Given the description of an element on the screen output the (x, y) to click on. 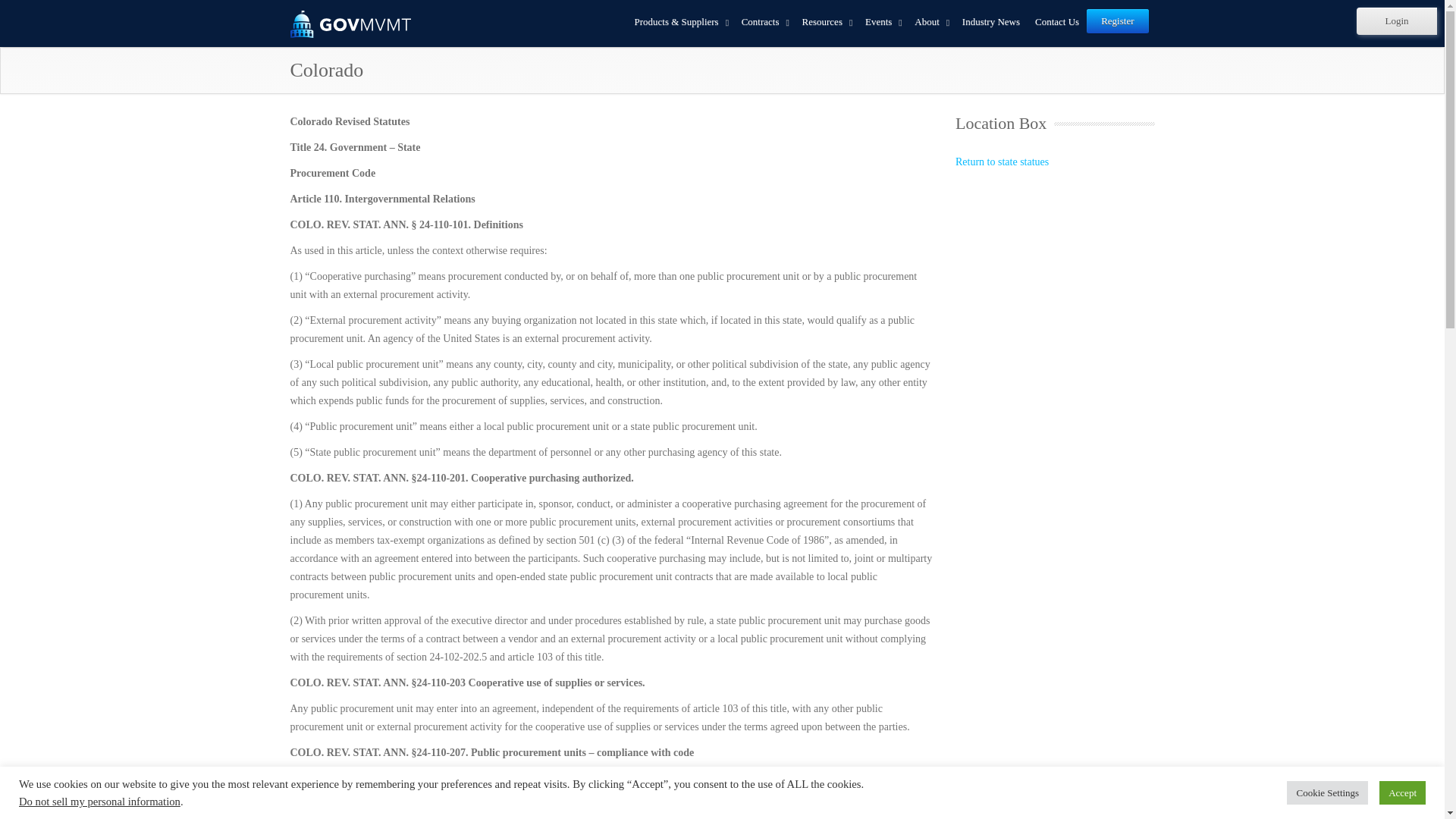
Contracts (763, 22)
About (931, 22)
Register (1117, 21)
Resources (825, 22)
Industry News (991, 22)
Return to state statues (1001, 161)
Contact Us (1056, 22)
Login (1396, 21)
Events (882, 22)
